Given the description of an element on the screen output the (x, y) to click on. 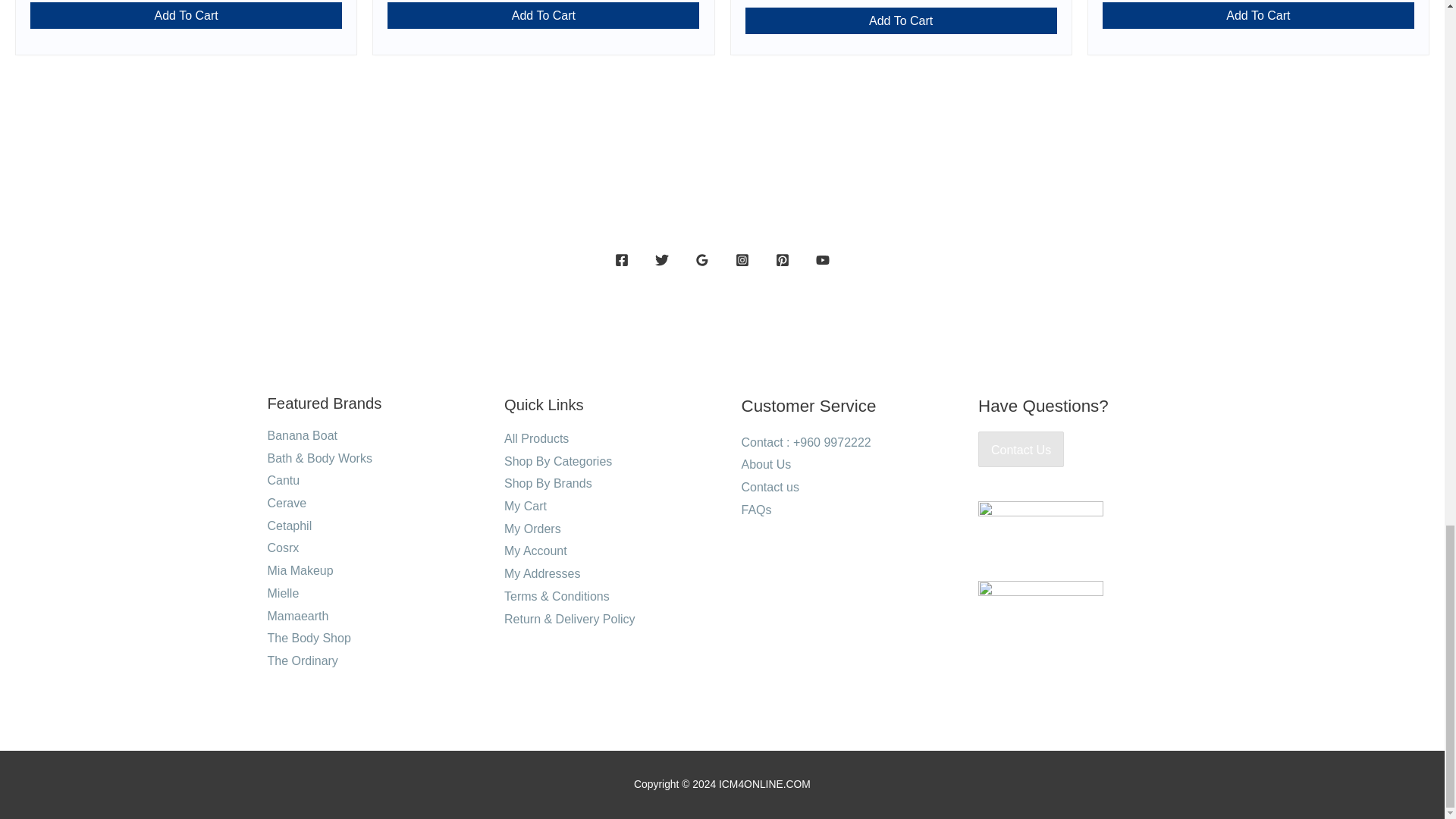
appstore (1040, 524)
playstore (1040, 603)
